Given the description of an element on the screen output the (x, y) to click on. 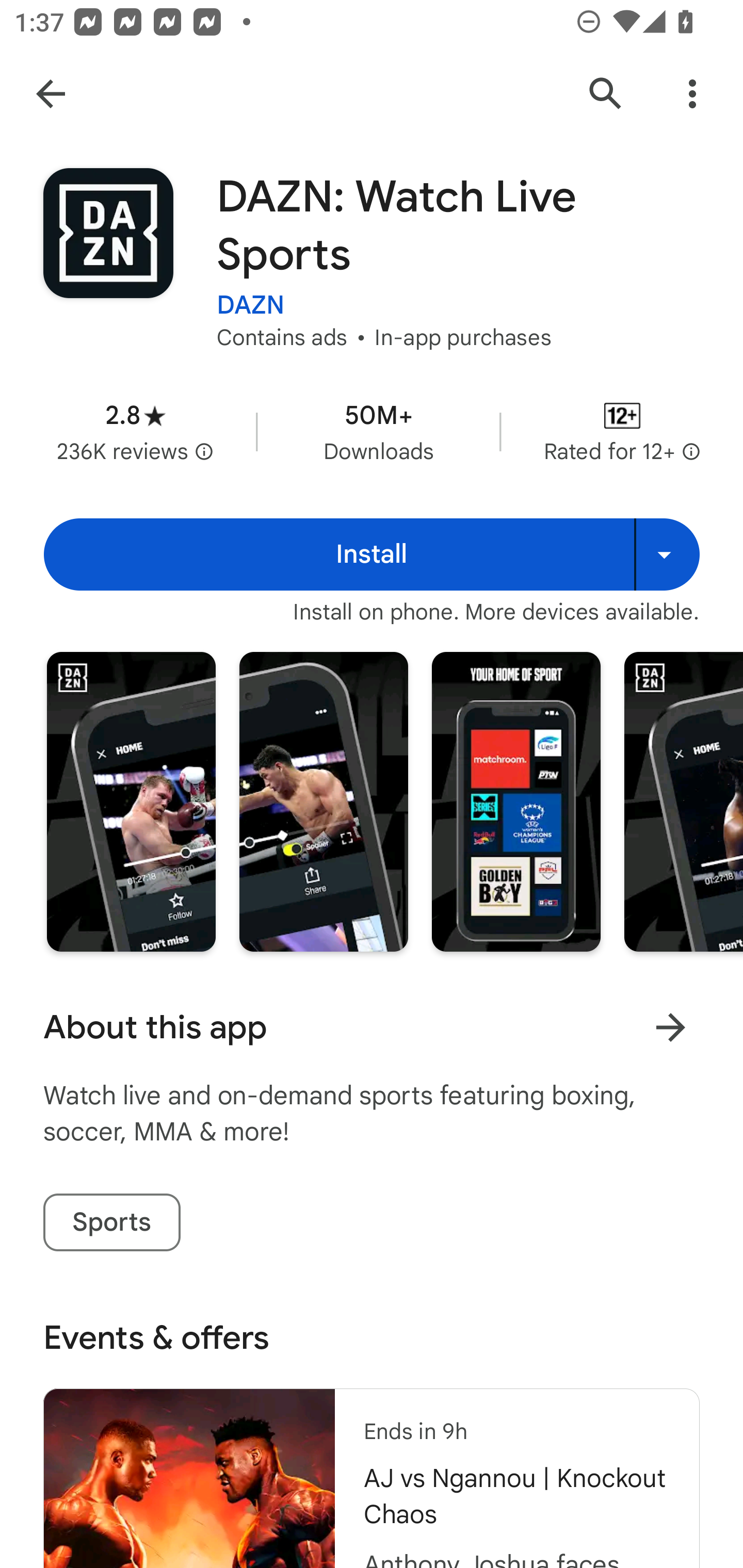
Navigate up (50, 93)
Search Google Play (605, 93)
More Options (692, 93)
DAZN (250, 304)
Average rating 2.8 stars in 236 thousand reviews (135, 431)
Content rating Rated for 12+ (622, 431)
Install Install Install on more devices (371, 554)
Install on more devices (667, 554)
Screenshot "1" of "8" (130, 801)
Screenshot "2" of "8" (323, 801)
Screenshot "3" of "8" (515, 801)
About this app Learn more About this app (371, 1027)
Learn more About this app (670, 1027)
Sports tag (111, 1222)
